Given the description of an element on the screen output the (x, y) to click on. 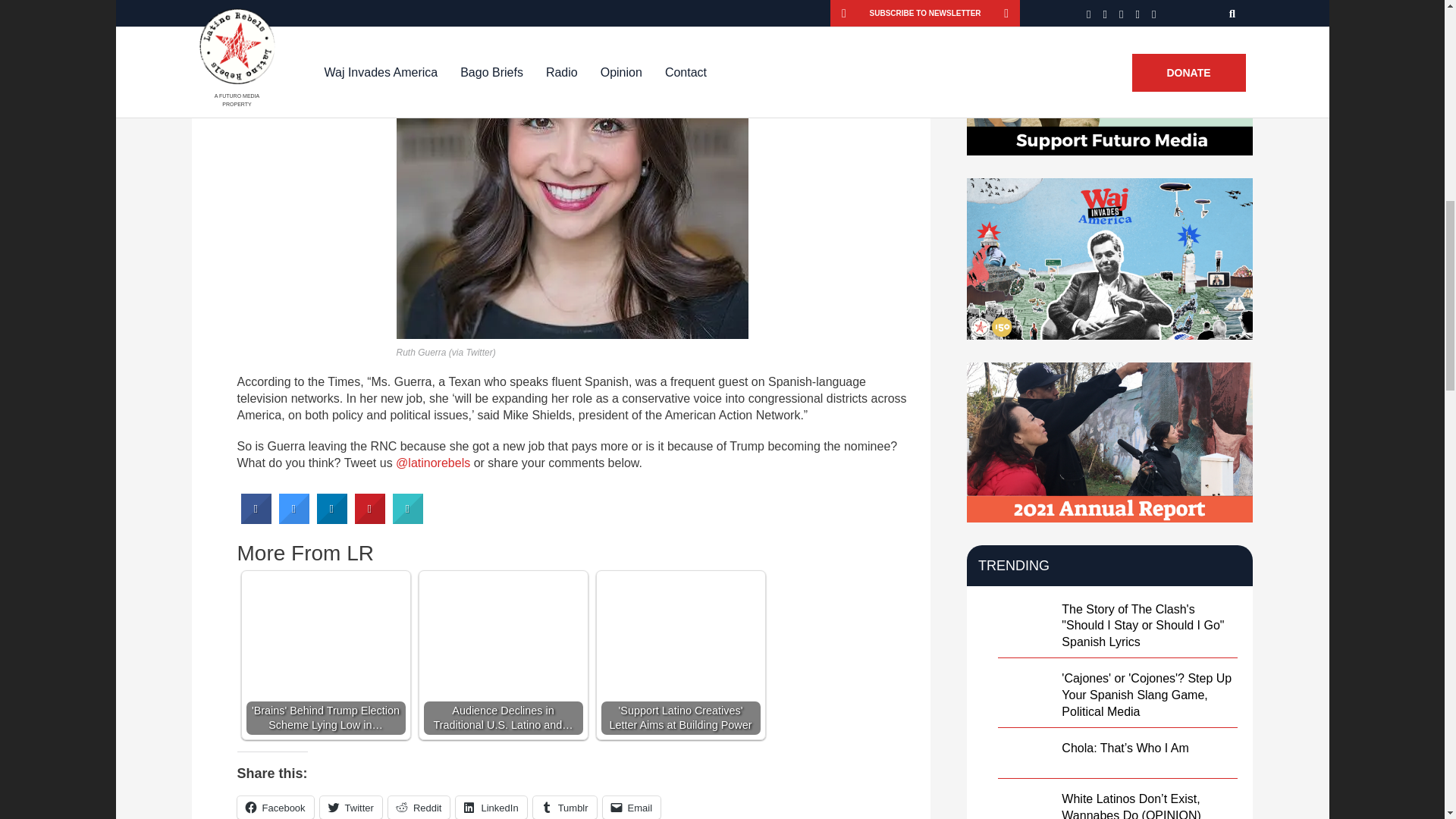
Facebook (274, 807)
Click to share on Twitter (350, 807)
Email (631, 807)
Twitter (350, 807)
Click to share on LinkedIn (490, 807)
Share on Facebook (255, 519)
Share on Twitter (293, 519)
Tumblr (564, 807)
LinkedIn (490, 807)
Click to email a link to a friend (631, 807)
Click to share on Reddit (418, 807)
Share to LinkedIn (332, 519)
'Support Latino Creatives' Letter Aims at Building Power (679, 654)
Click to share on Facebook (274, 807)
Print this page (408, 519)
